Given the description of an element on the screen output the (x, y) to click on. 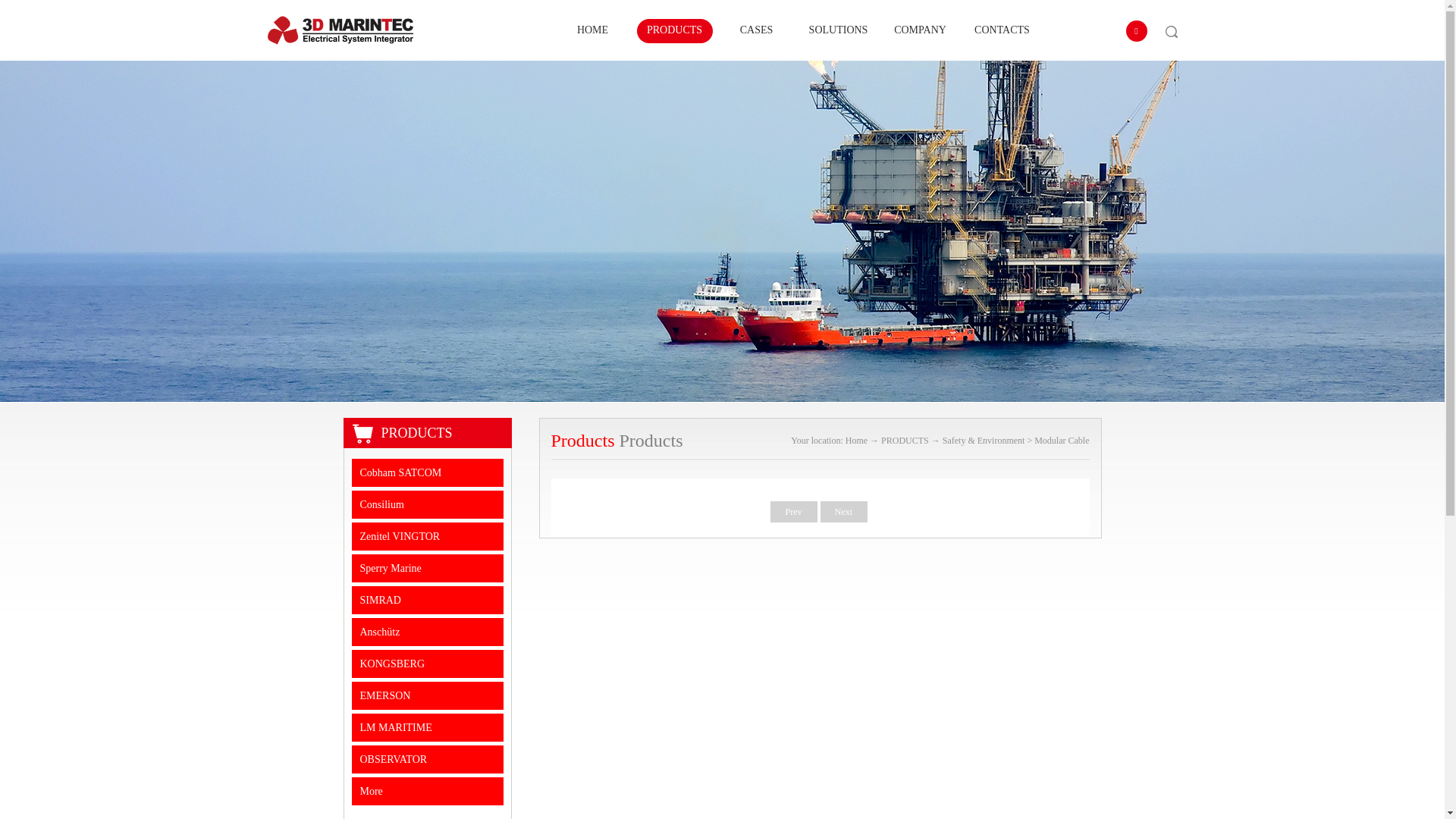
PRODUCTS Element type: text (415, 432)
Zenitel VINGTOR Element type: text (427, 536)
Modular Cable Transits Element type: text (1061, 457)
PRODUCTS Element type: text (904, 440)
Sperry Marine Element type: text (427, 568)
Consilium Element type: text (427, 504)
Home Element type: text (857, 440)
Cobham SATCOM Element type: text (427, 472)
CONTACTS Element type: text (1002, 30)
SIMRAD Element type: text (427, 600)
SOLUTIONS Element type: text (838, 30)
COMPANY Element type: text (920, 30)
PRODUCTS Element type: text (674, 30)
CASES Element type: text (756, 30)
HOME Element type: text (592, 30)
LM MARITIME Element type: text (427, 727)
Prev Element type: text (793, 511)
Safety & Environment Element type: text (983, 440)
Next Element type: text (843, 511)
More Element type: text (427, 791)
OBSERVATOR Element type: text (427, 759)
EMERSON Element type: text (427, 695)
KONGSBERG Element type: text (427, 663)
